Given the description of an element on the screen output the (x, y) to click on. 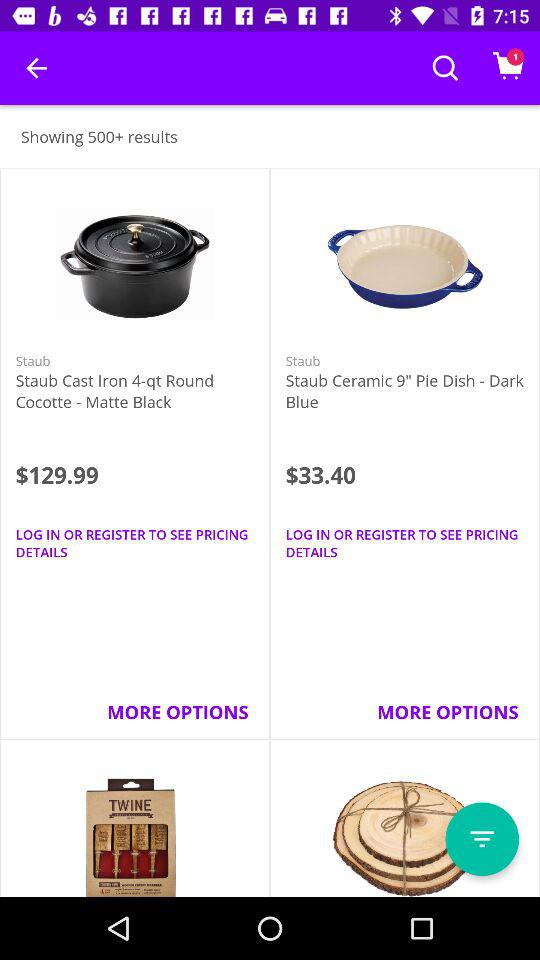
click on the icon at top right corner of the page (508, 65)
click on cart button (508, 68)
